Given the description of an element on the screen output the (x, y) to click on. 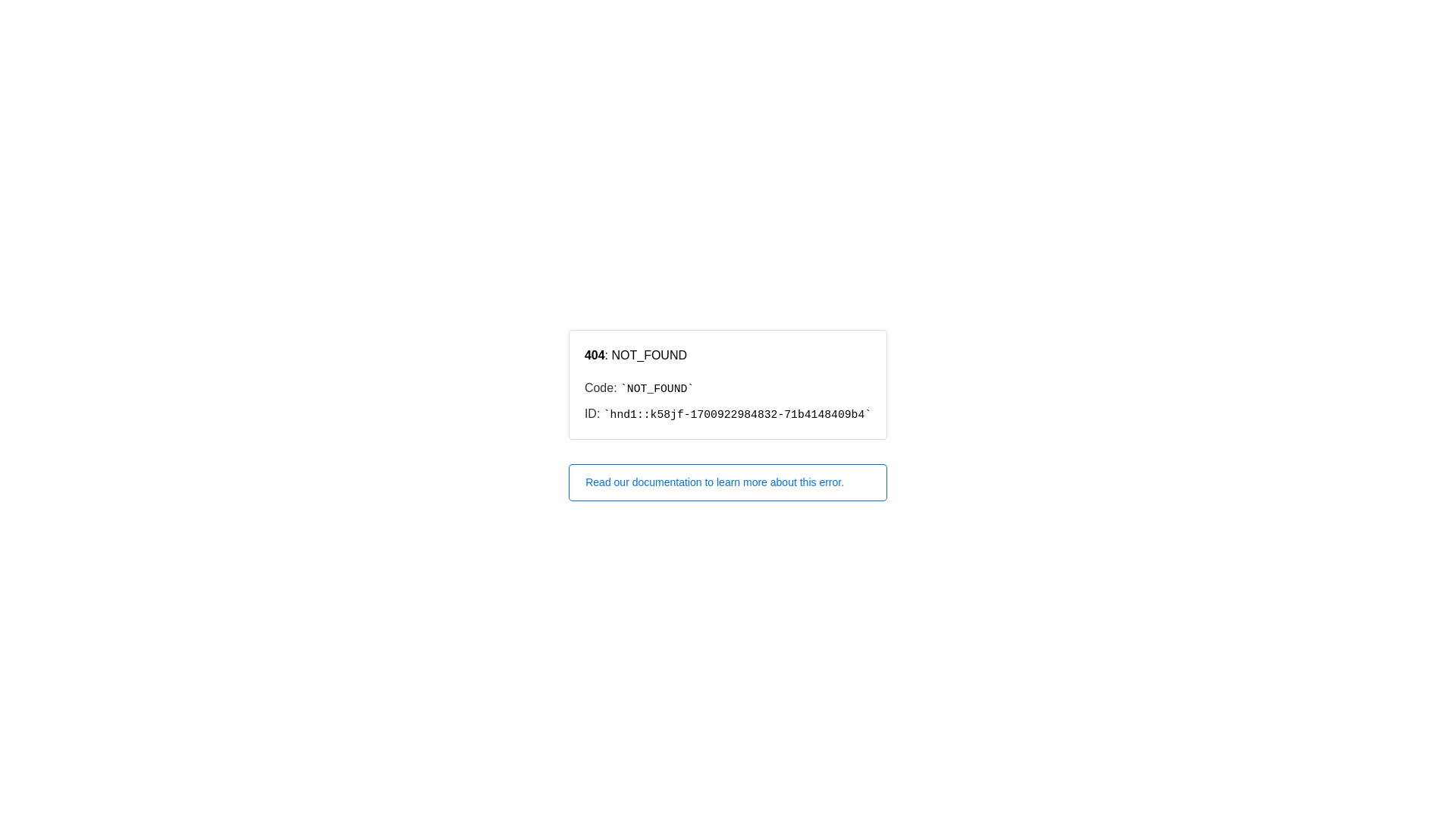
Read our documentation to learn more about this error. Element type: text (727, 482)
